Given the description of an element on the screen output the (x, y) to click on. 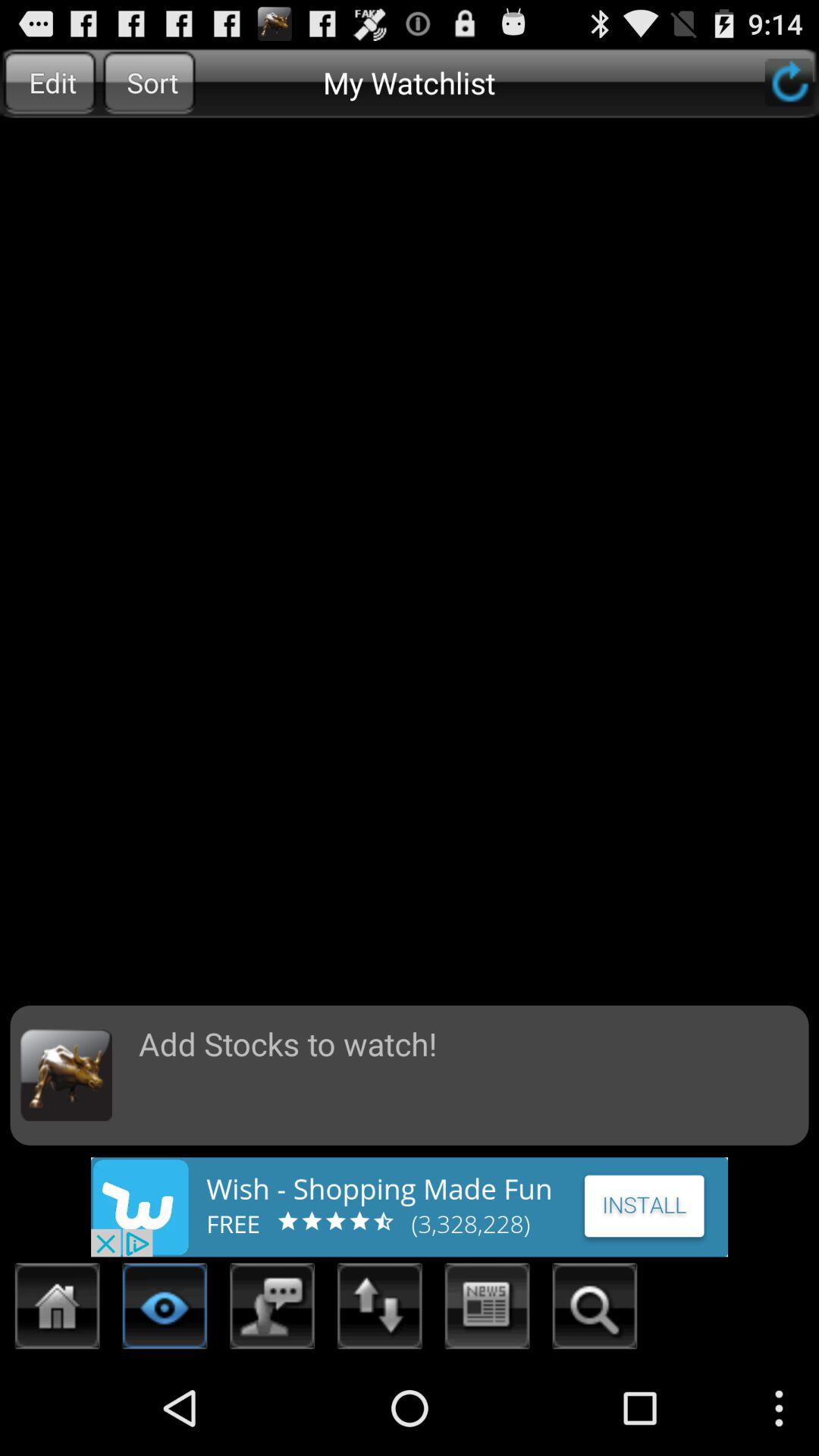
search (594, 1310)
